Given the description of an element on the screen output the (x, y) to click on. 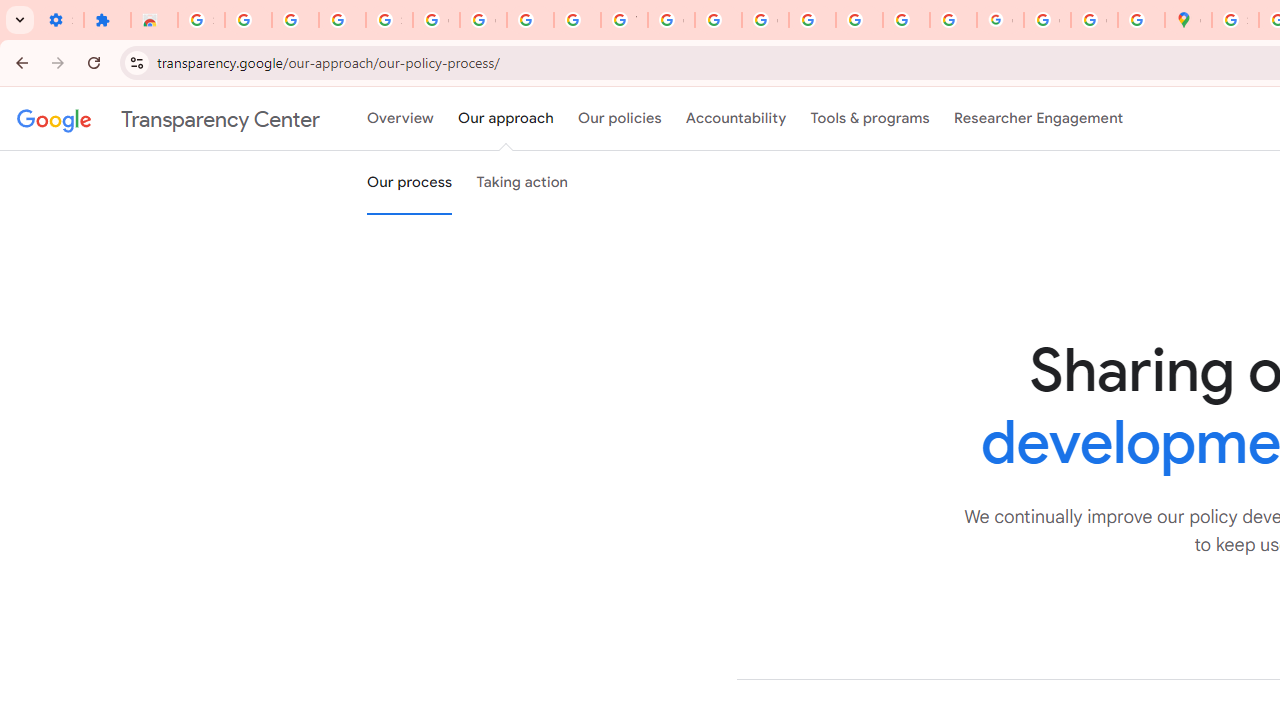
Privacy Help Center - Policies Help (811, 20)
Learn how to find your photos - Google Photos Help (294, 20)
Google Account Help (482, 20)
Our approach (506, 119)
https://scholar.google.com/ (718, 20)
Google Account Help (436, 20)
Settings - On startup (60, 20)
Accountability (735, 119)
